Given the description of an element on the screen output the (x, y) to click on. 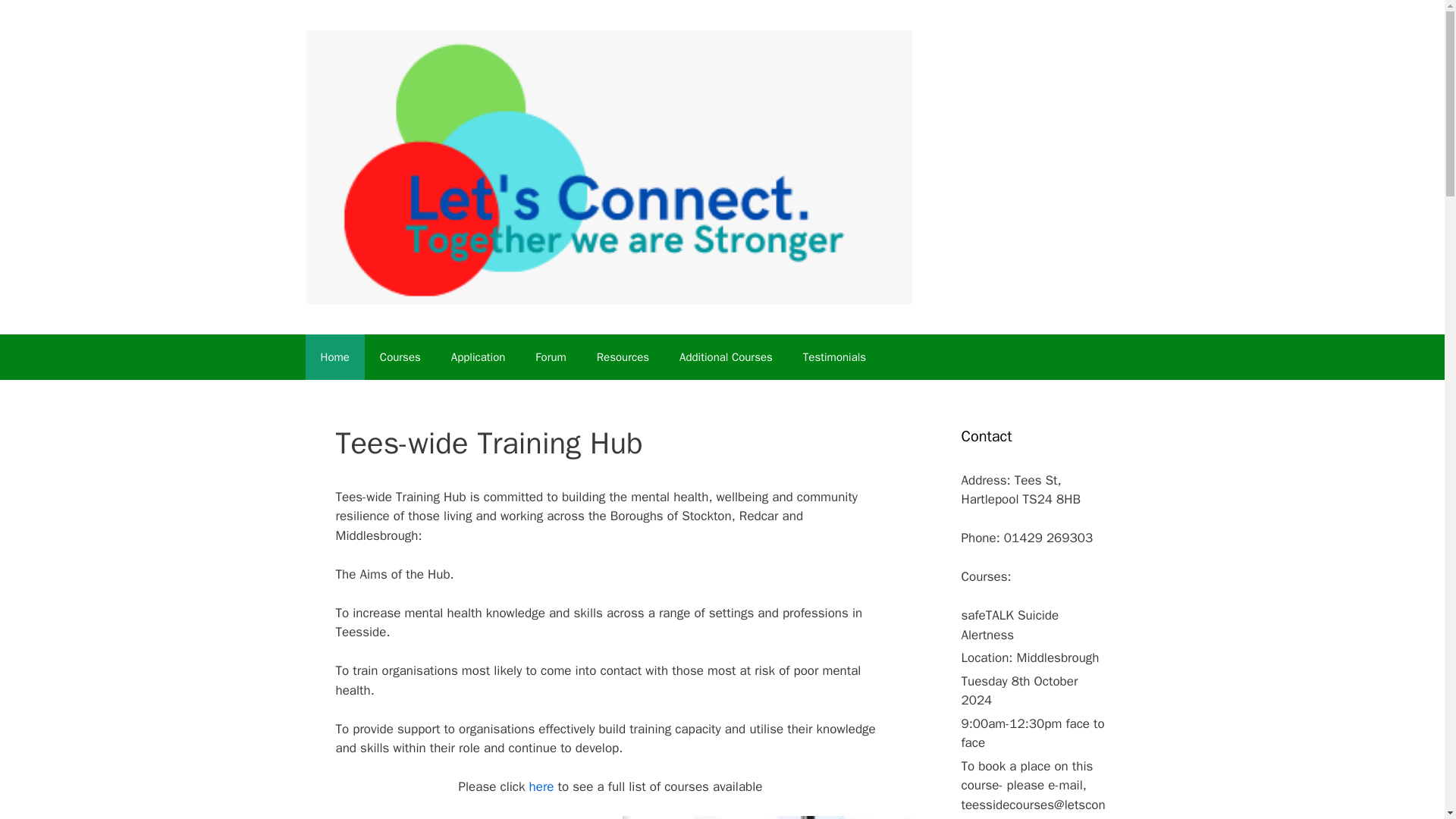
Application (478, 357)
Resources (621, 357)
Forum (549, 357)
Courses (400, 357)
Forum (549, 357)
Testimonials (833, 357)
Home (334, 357)
Tees Training Hub (607, 166)
here (541, 786)
Additional Courses (725, 357)
